Given the description of an element on the screen output the (x, y) to click on. 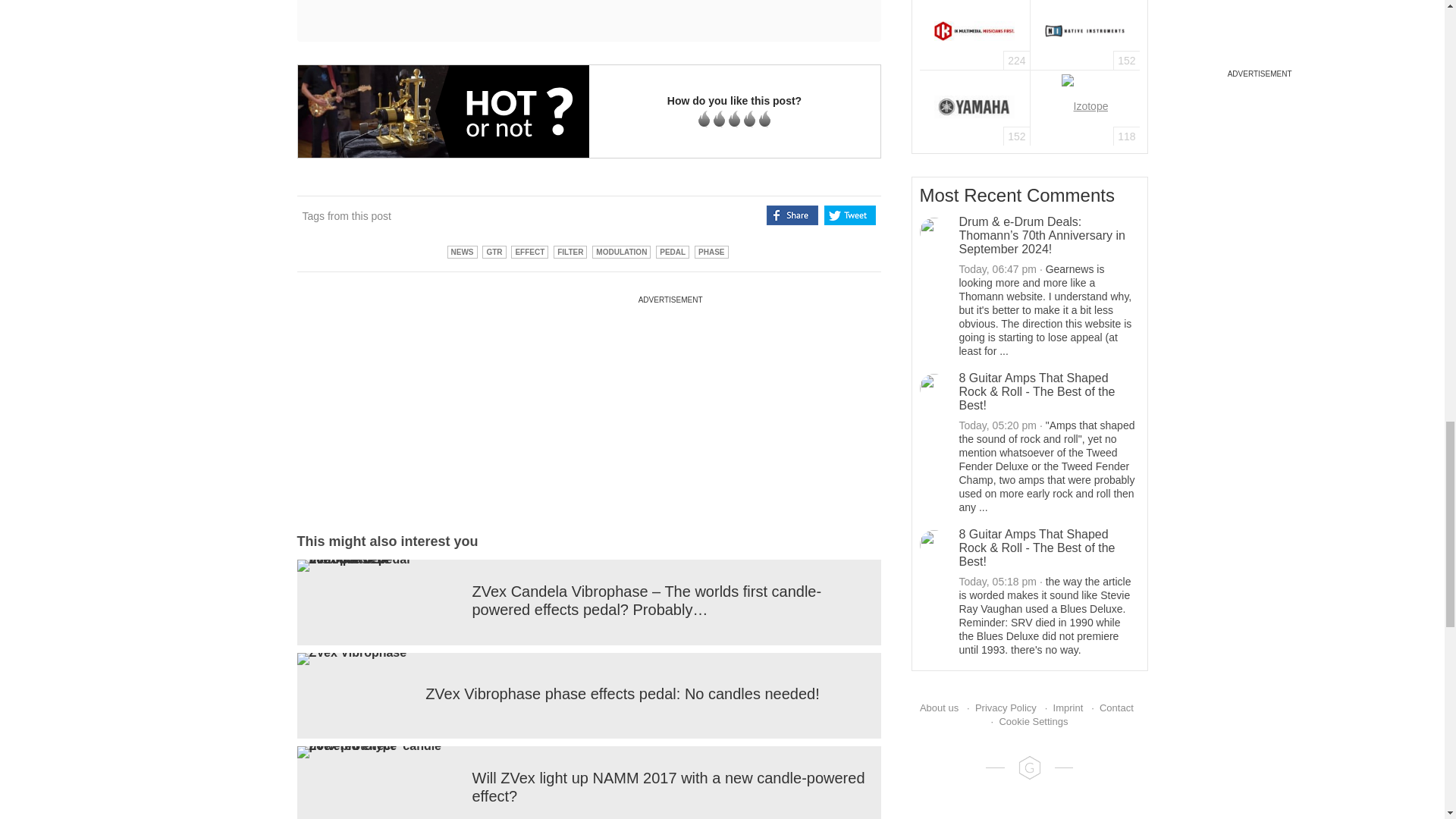
View all Posts in News (461, 251)
View all Posts in Guitar (493, 251)
View all Posts in Effect (529, 251)
Share on Twitter (850, 215)
View all Posts in phase (711, 251)
View all Posts in Modulation (621, 251)
View all Posts in Pedal (672, 251)
Share on Facebook (791, 215)
View all Posts in filter (569, 251)
